Given the description of an element on the screen output the (x, y) to click on. 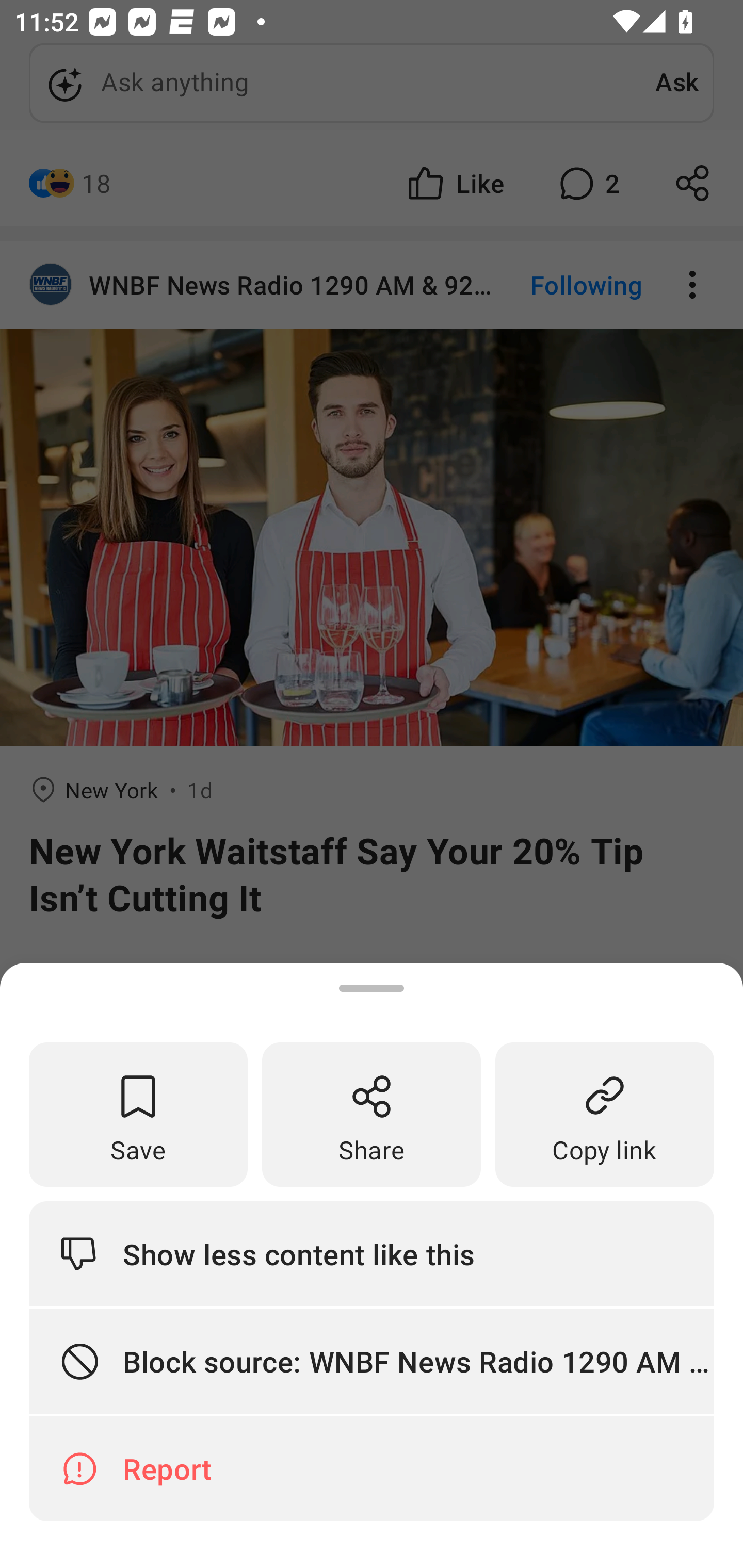
Save (137, 1114)
Share (371, 1114)
Copy link (604, 1114)
Show less content like this (371, 1253)
Block source: WNBF News Radio 1290 AM & 92.1 FM (371, 1361)
Report (371, 1467)
